Given the description of an element on the screen output the (x, y) to click on. 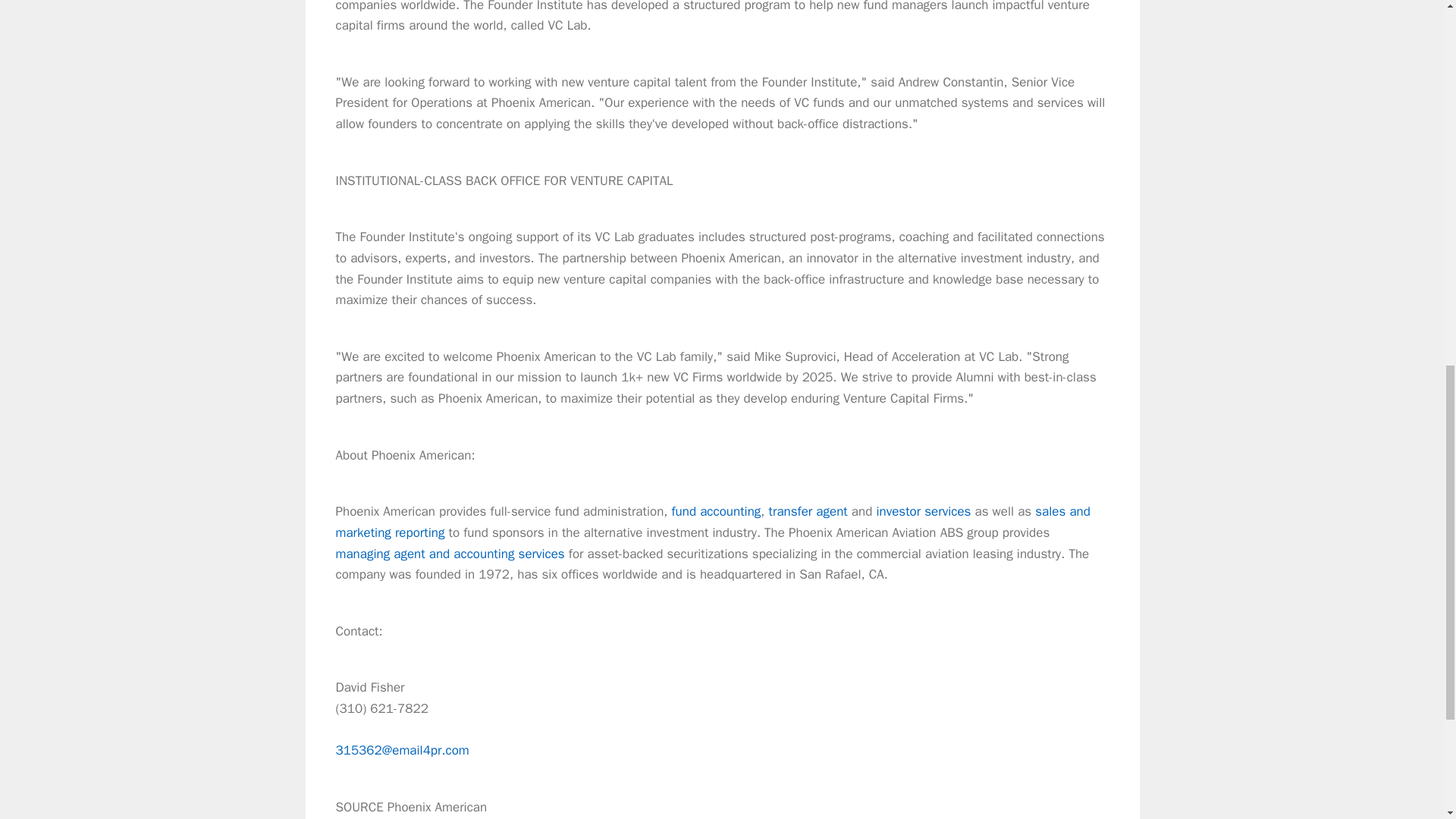
sales and marketing reporting (711, 521)
investor services (923, 511)
fund accounting (716, 511)
transfer agent (807, 511)
managing agent and accounting services (449, 553)
